Given the description of an element on the screen output the (x, y) to click on. 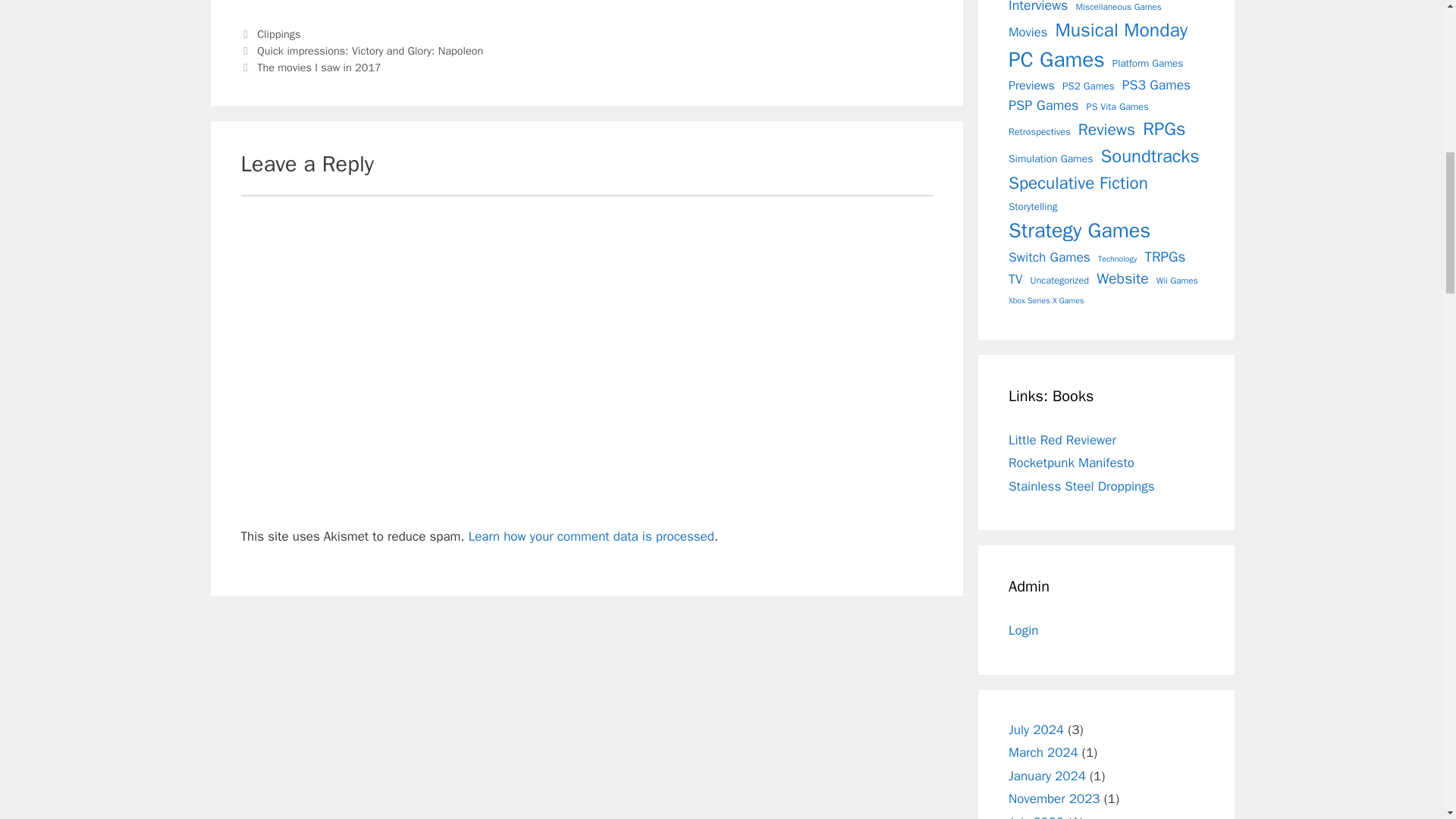
Clippings (278, 33)
Quick impressions: Victory and Glory: Napoleon (370, 50)
The movies I saw in 2017 (319, 67)
Interviews (1038, 7)
Learn how your comment data is processed (591, 536)
Another fine science fiction blog (1081, 486)
